Given the description of an element on the screen output the (x, y) to click on. 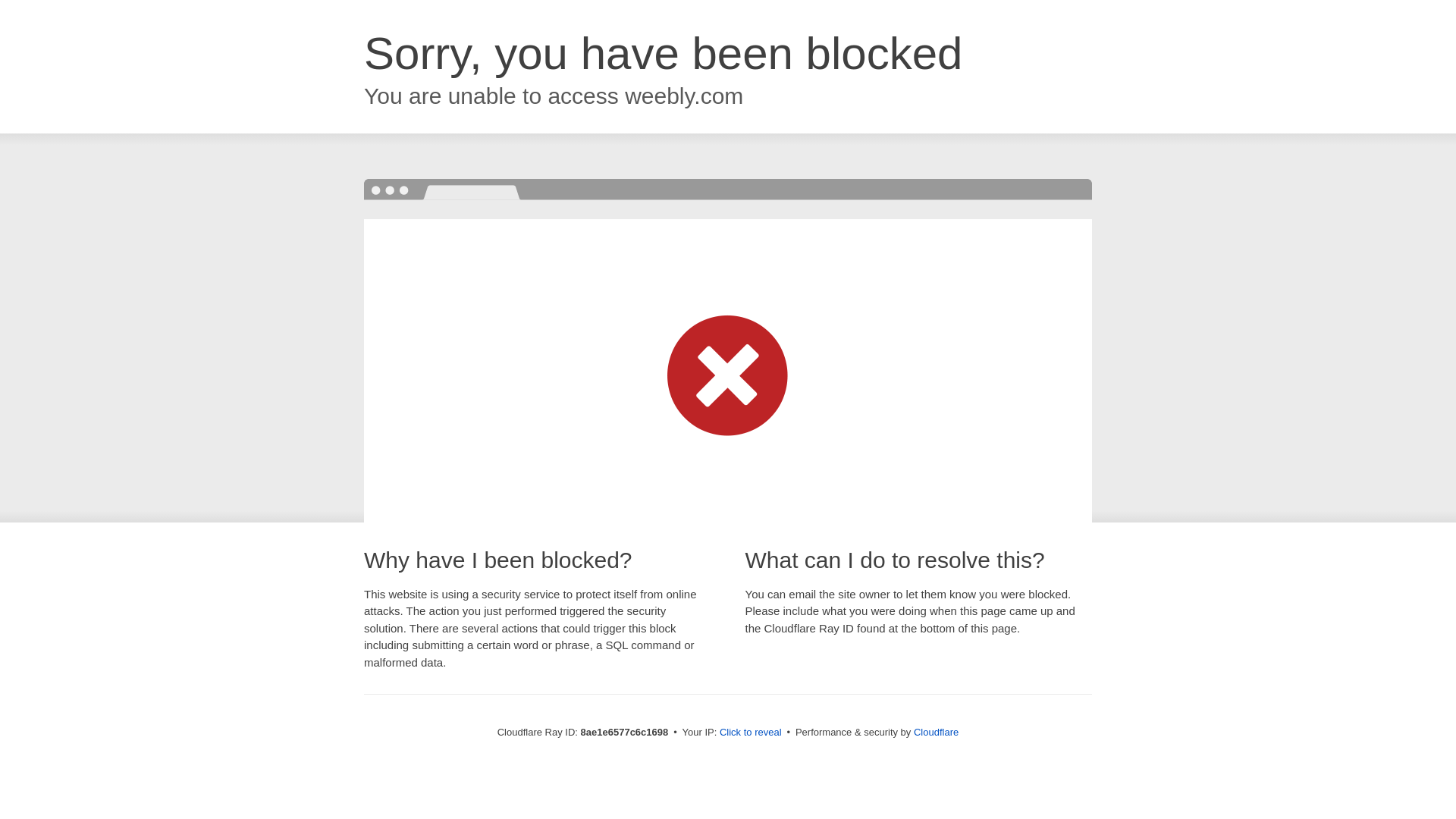
Cloudflare (936, 731)
Click to reveal (750, 732)
